Given the description of an element on the screen output the (x, y) to click on. 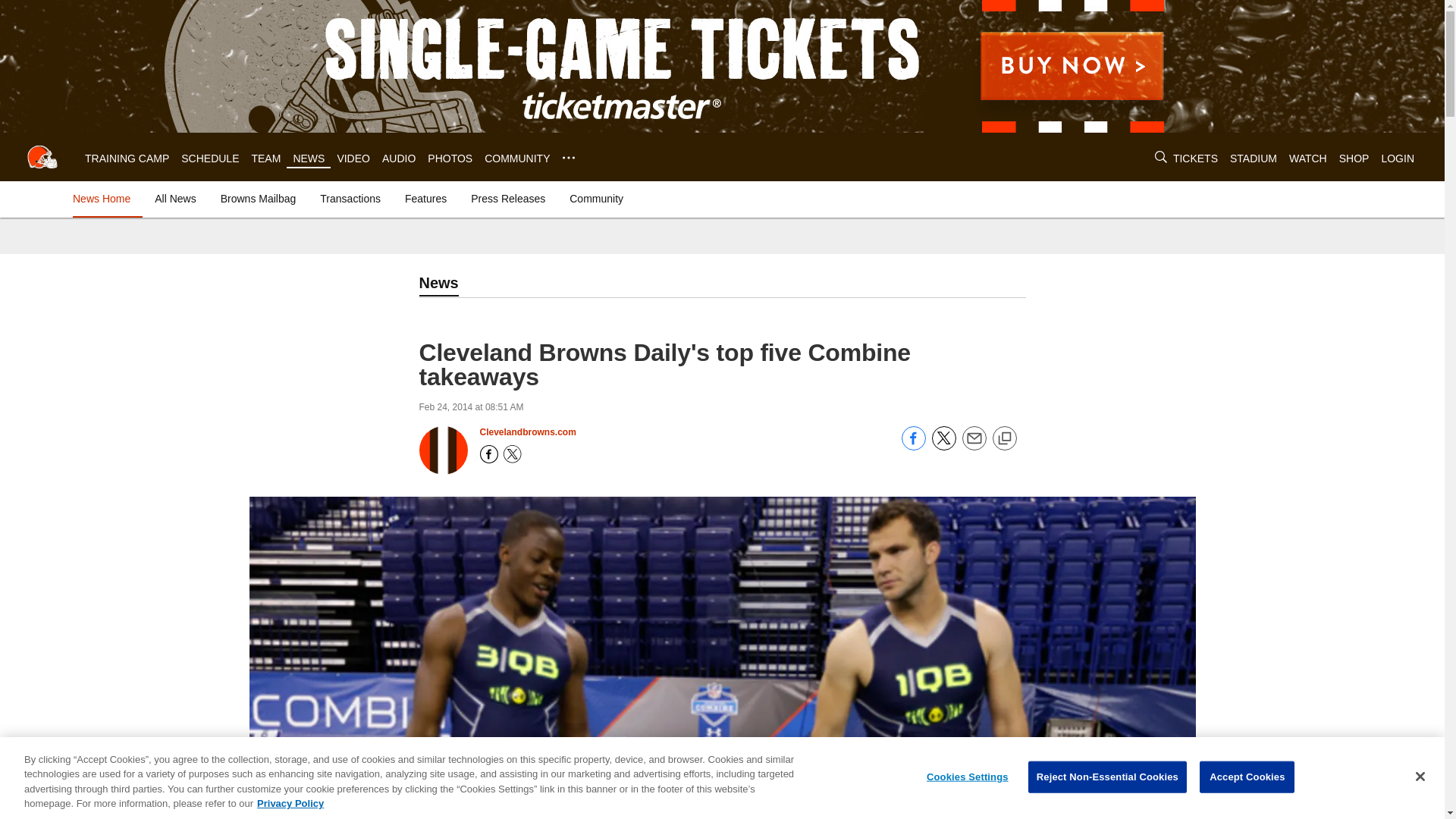
AUDIO (397, 158)
LOGIN (1396, 158)
Clevelandbrowns.com (527, 431)
News Home (104, 198)
WATCH (1307, 158)
TICKETS (1195, 158)
TRAINING CAMP (126, 158)
Transactions (350, 198)
COMMUNITY (517, 158)
COMMUNITY (517, 158)
AUDIO (397, 158)
Link to club's homepage (42, 156)
SHOP (1354, 158)
NEWS (308, 158)
... (568, 157)
